Given the description of an element on the screen output the (x, y) to click on. 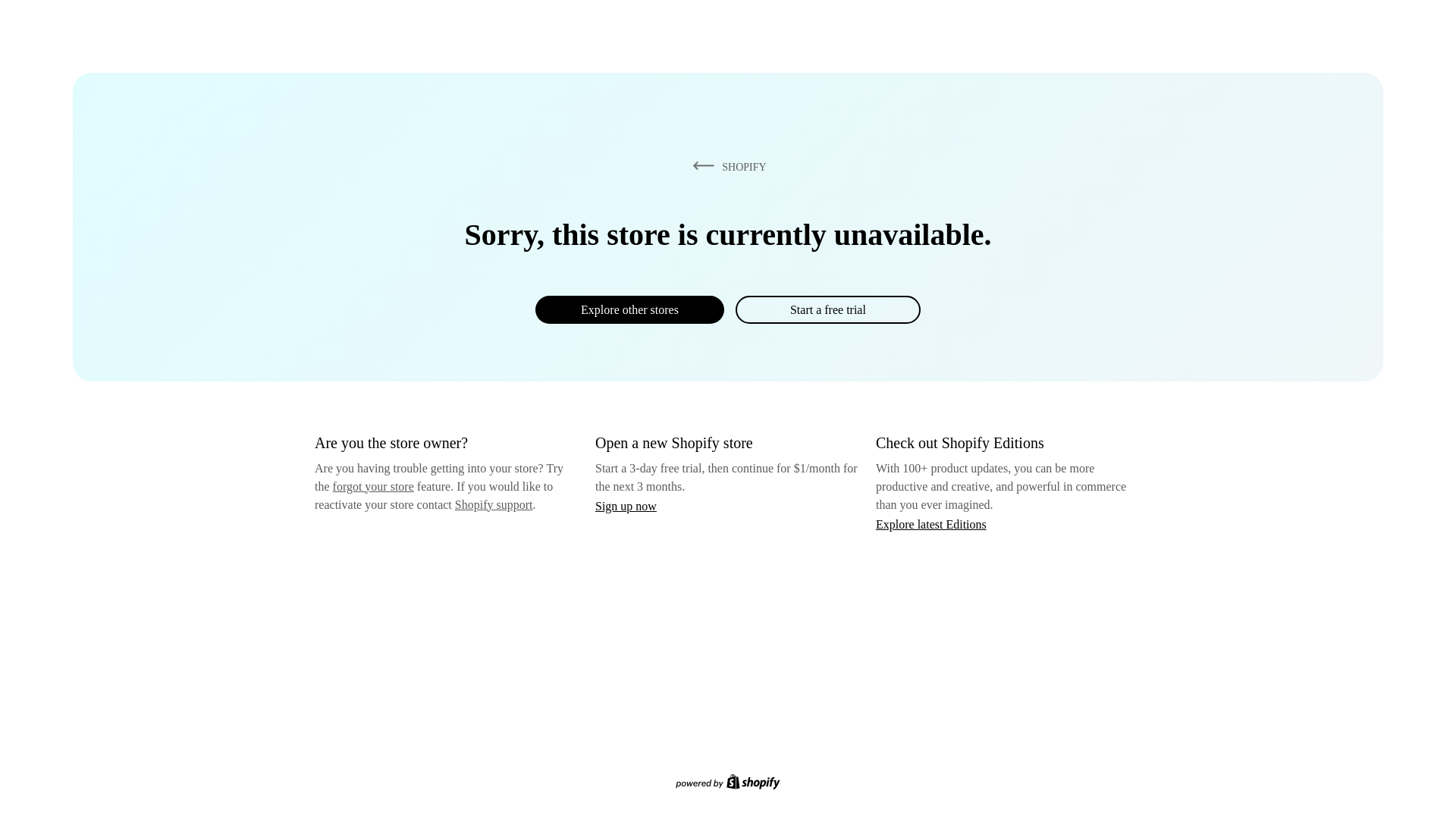
Explore latest Editions (931, 523)
SHOPIFY (726, 166)
Explore other stores (629, 309)
forgot your store (373, 486)
Start a free trial (827, 309)
Shopify support (493, 504)
Sign up now (625, 505)
